Given the description of an element on the screen output the (x, y) to click on. 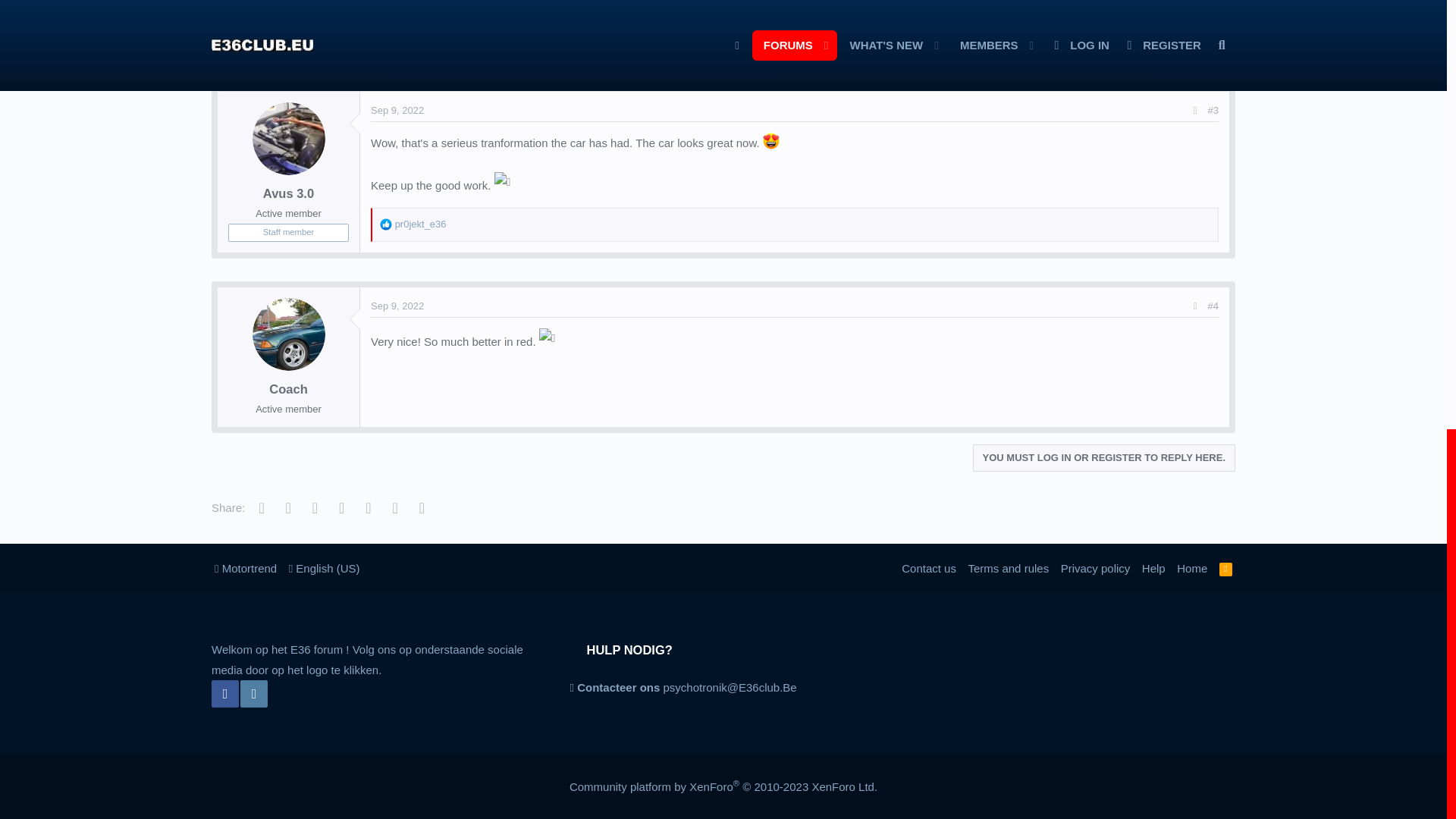
Love    :love: (770, 140)
Like (385, 29)
Sep 9, 2022 at 11:26 AM (397, 110)
